Given the description of an element on the screen output the (x, y) to click on. 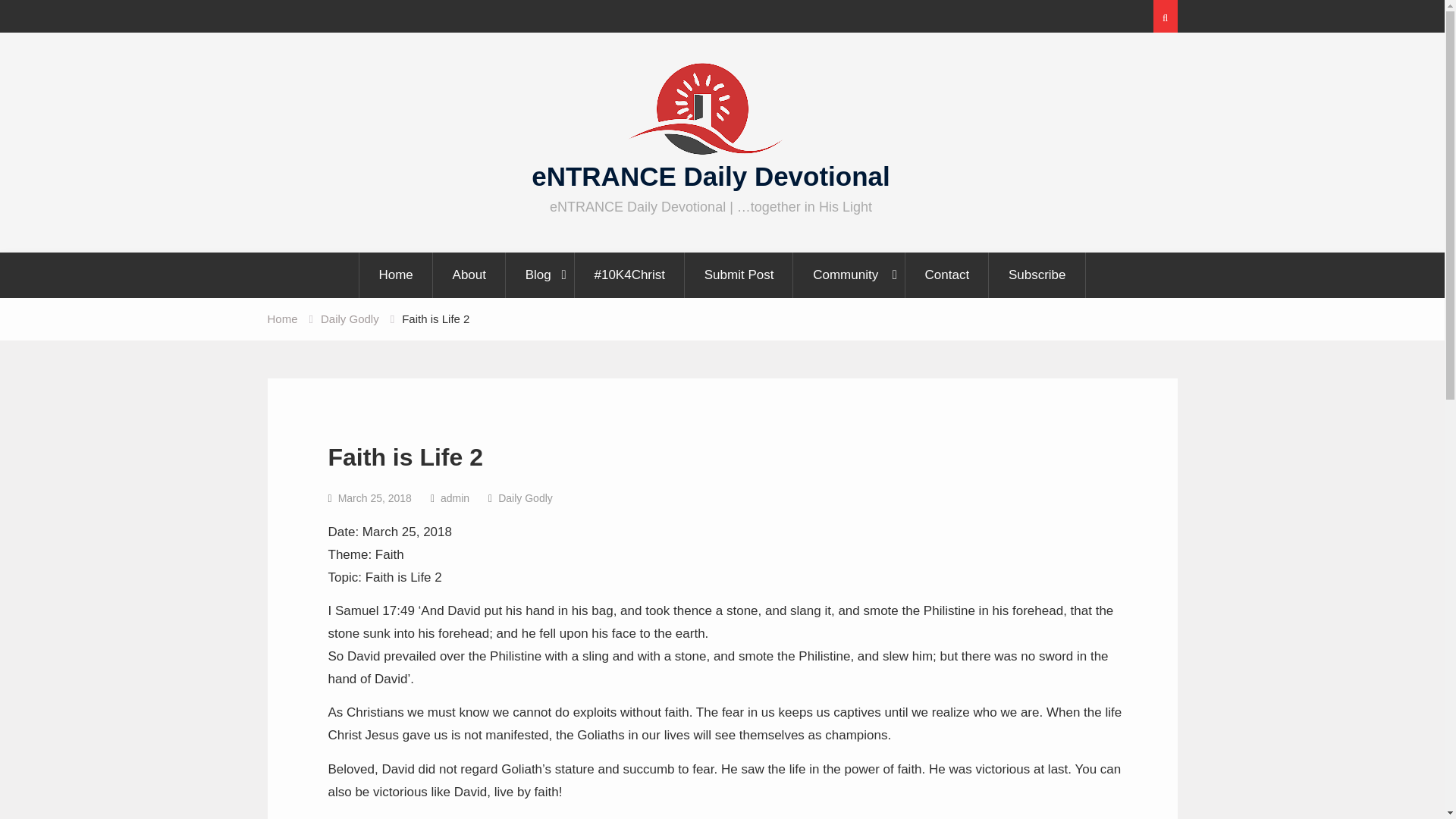
Community  (849, 275)
Blog (540, 275)
Contact (947, 275)
Submit Post (739, 275)
Home (395, 275)
Home (281, 318)
Subscribe (1038, 275)
eNTRANCE Daily Devotional (710, 175)
Daily Godly (349, 318)
About (469, 275)
